Given the description of an element on the screen output the (x, y) to click on. 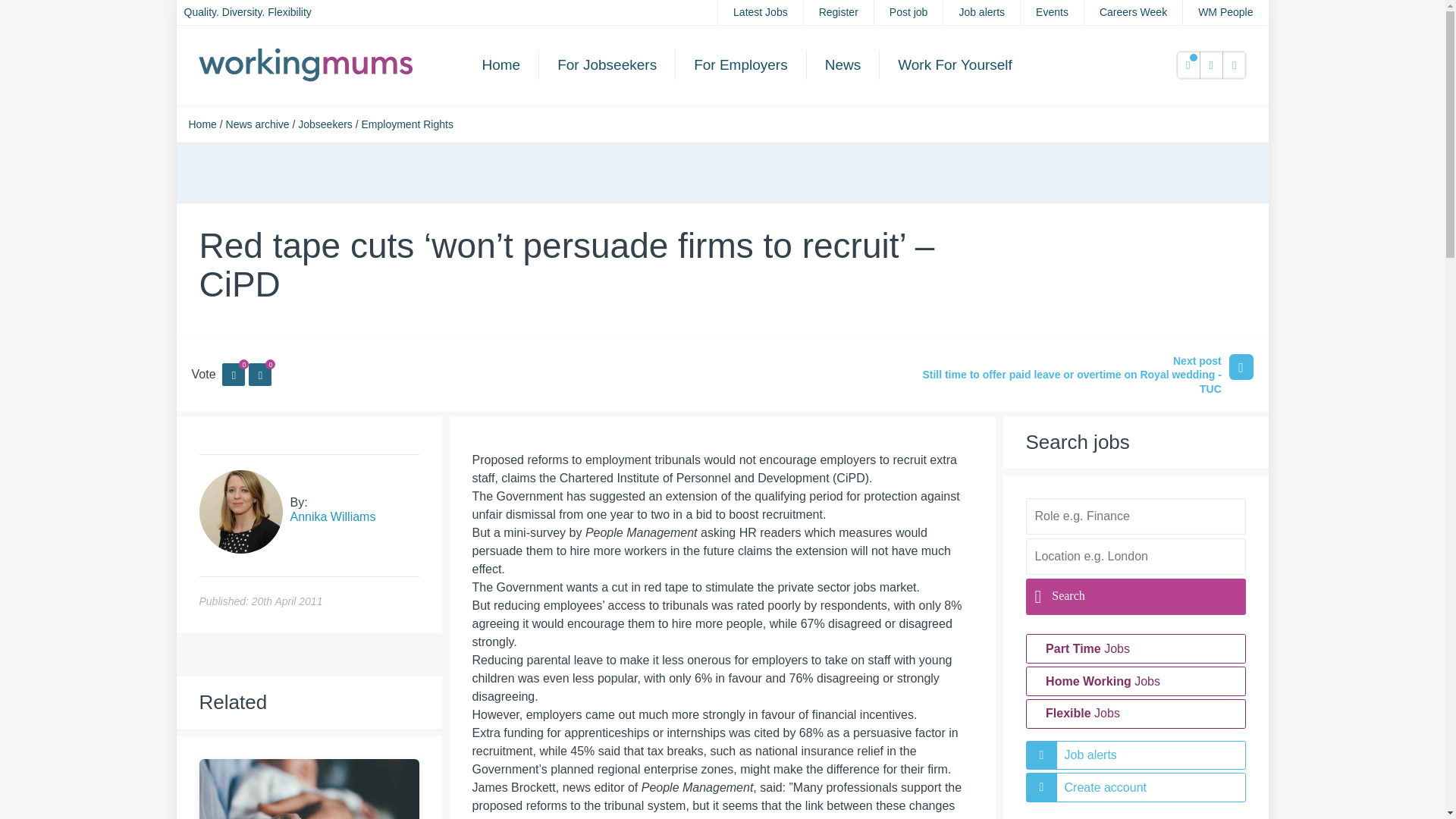
Register (838, 12)
Latest Jobs (760, 12)
For Jobseekers (606, 64)
Work For Yourself (954, 64)
News (842, 64)
Job alerts (981, 12)
WM People (1225, 12)
Can I take maternity leave in one job, but not another? (308, 814)
workingmums.co.uk (305, 63)
For Employers (740, 64)
Post job (909, 12)
Events (1051, 12)
Careers Week (1133, 12)
Home (501, 64)
0 (1187, 64)
